Given the description of an element on the screen output the (x, y) to click on. 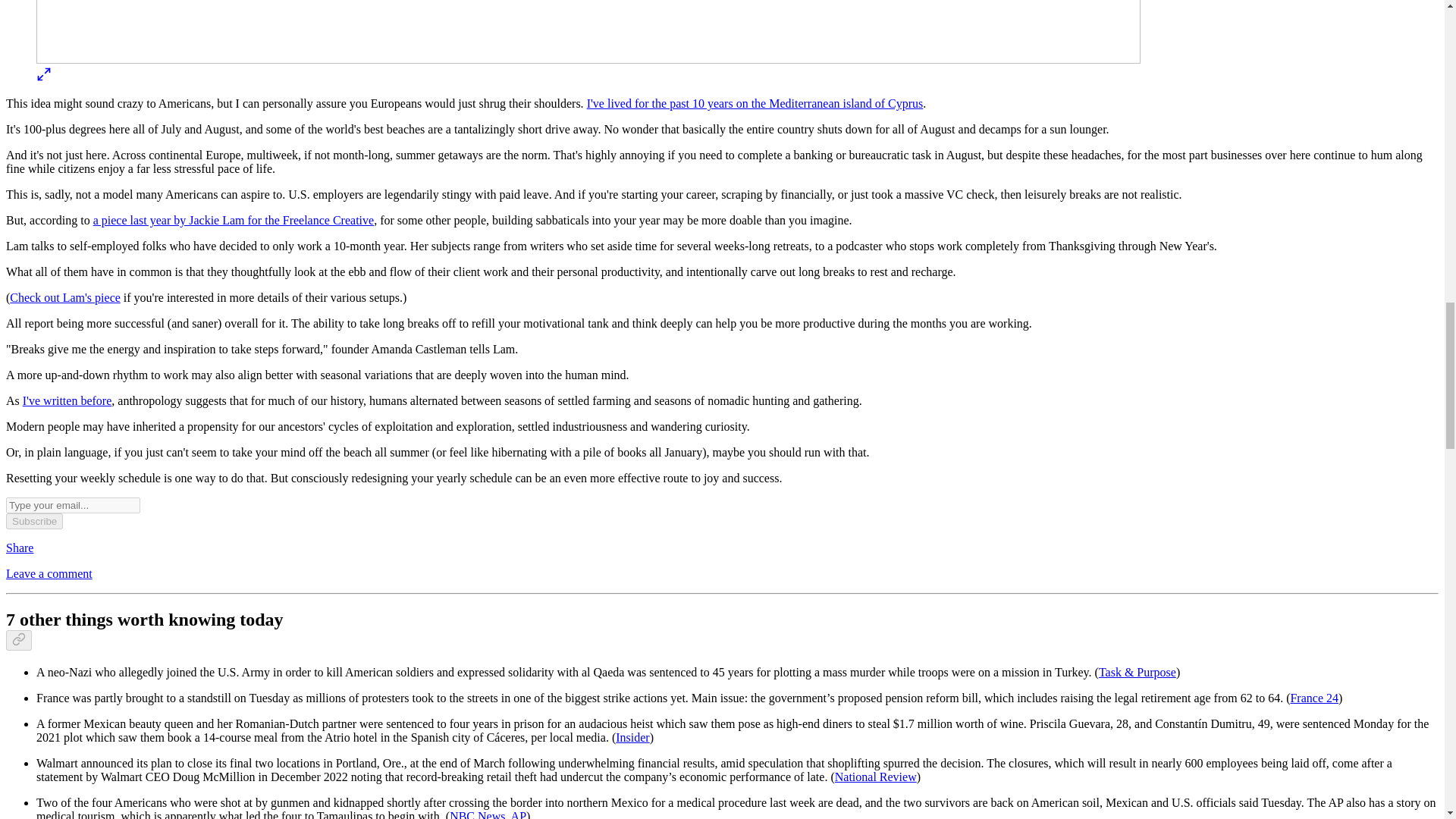
NBC News (477, 814)
France 24 (1314, 697)
Subscribe (33, 521)
Share (19, 547)
Check out Lam's piece (65, 297)
I've written before (67, 400)
Insider (632, 737)
National Review (875, 776)
AP (518, 814)
